Given the description of an element on the screen output the (x, y) to click on. 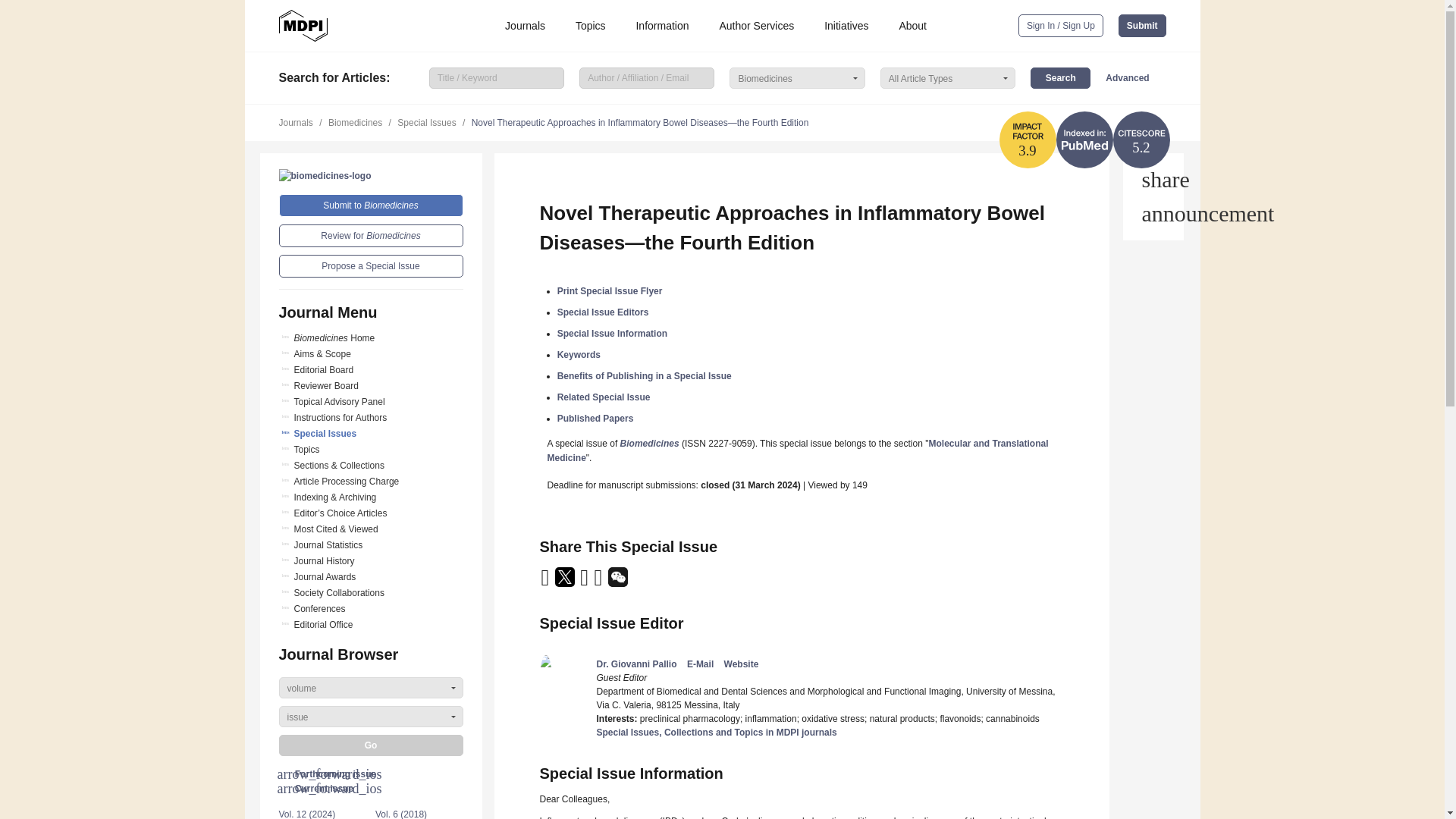
Search (1060, 77)
Share (1152, 179)
Biomedicines (325, 175)
facebook (599, 582)
Wechat (617, 582)
MDPI Open Access Journals (303, 25)
Search (1060, 77)
Go (371, 744)
Email (546, 582)
LinkedIn (585, 582)
